Given the description of an element on the screen output the (x, y) to click on. 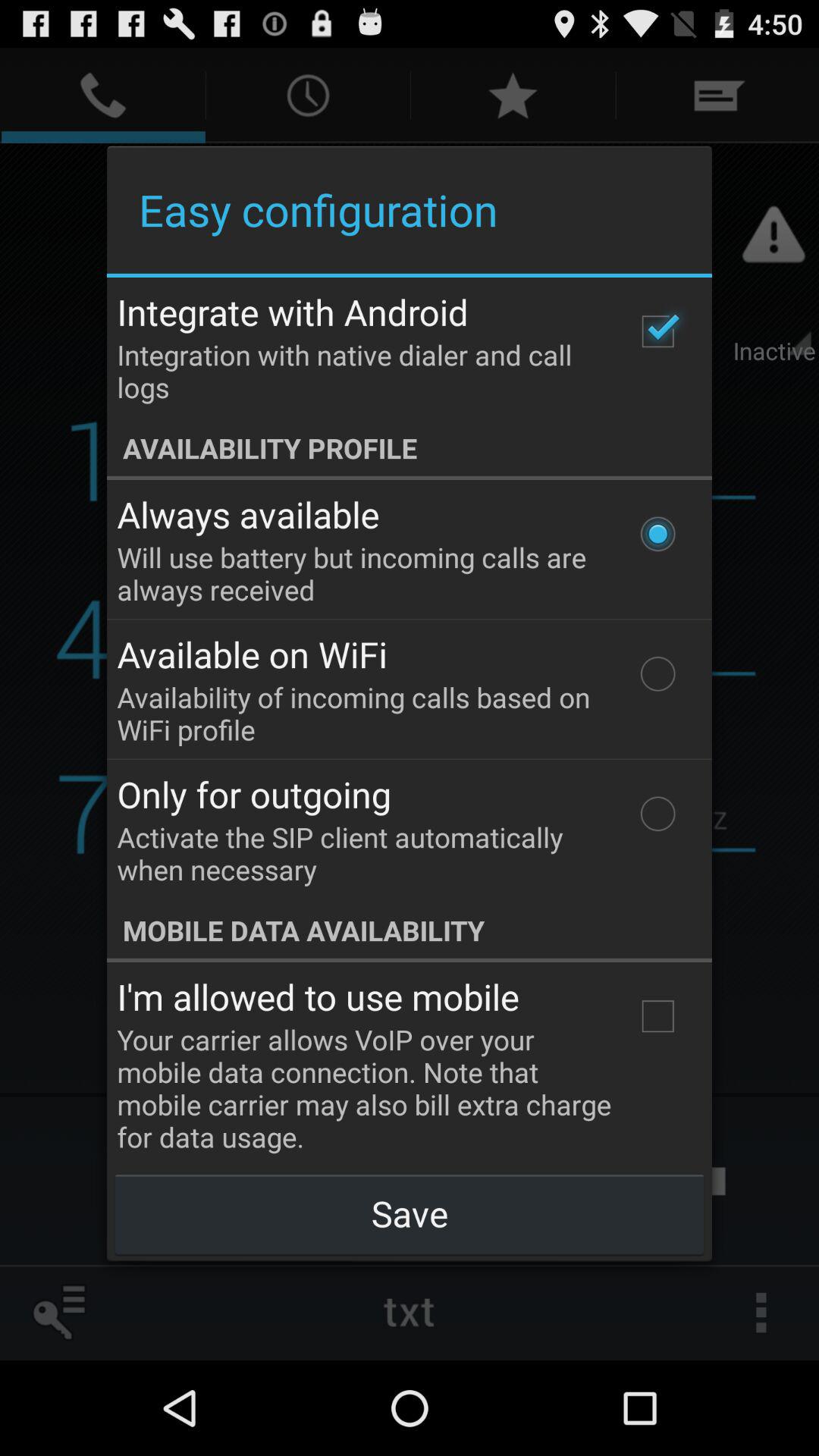
select the item above save (657, 1016)
